Given the description of an element on the screen output the (x, y) to click on. 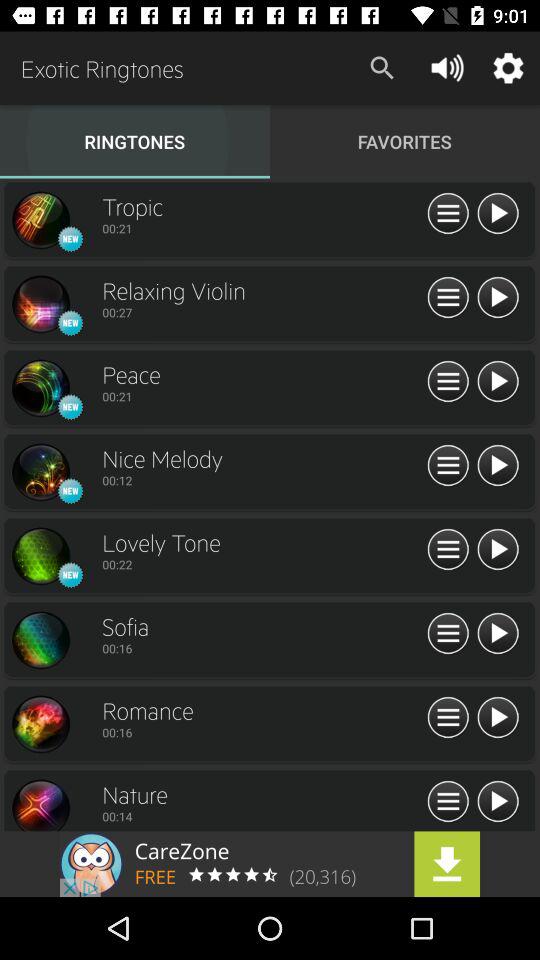
select play on the track (497, 297)
